Given the description of an element on the screen output the (x, y) to click on. 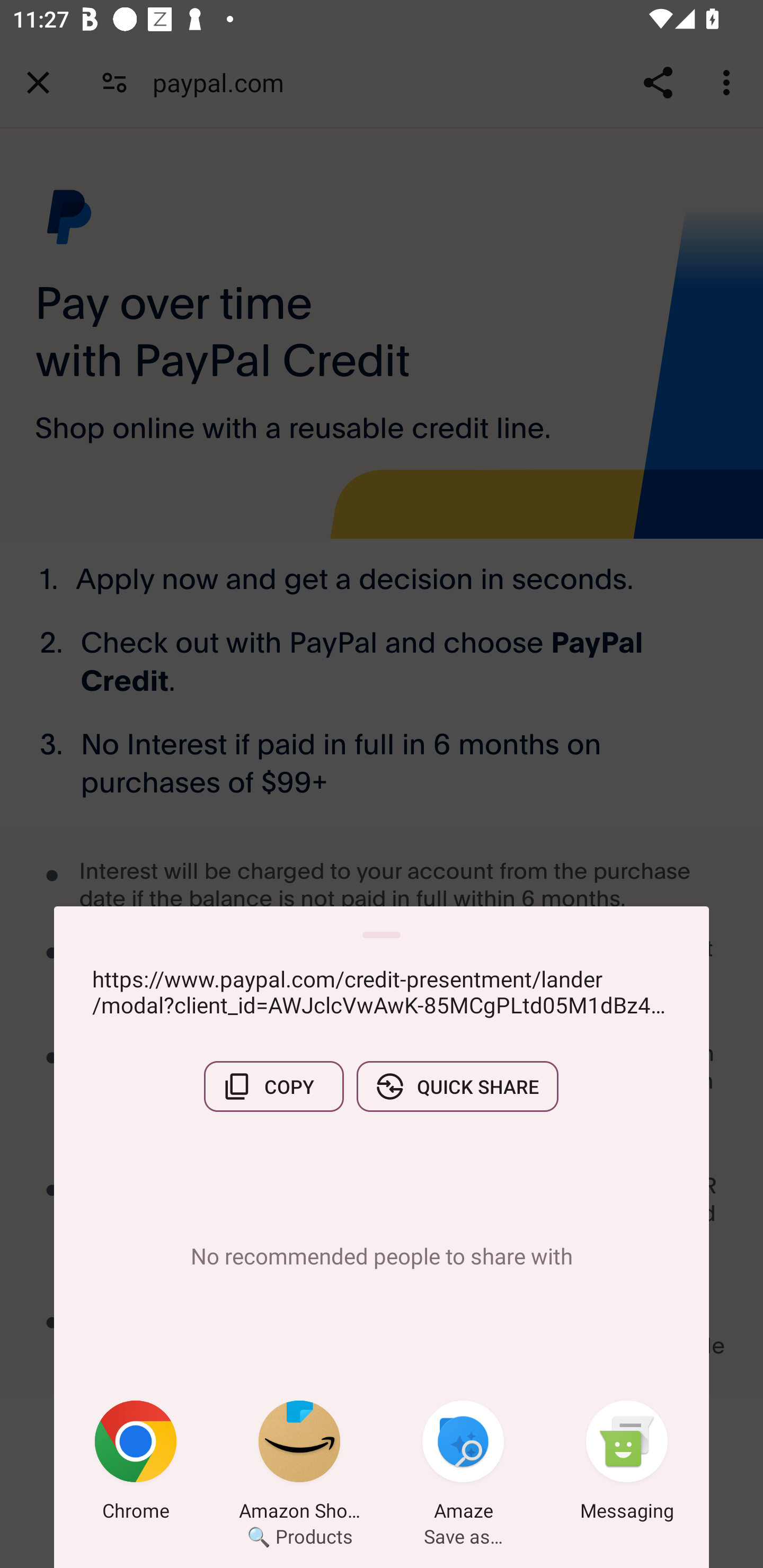
COPY (273, 1086)
QUICK SHARE (457, 1086)
Chrome (135, 1463)
Amazon Shopping 🔍 Products (299, 1463)
Amaze Save as… (463, 1463)
Messaging (626, 1463)
